Given the description of an element on the screen output the (x, y) to click on. 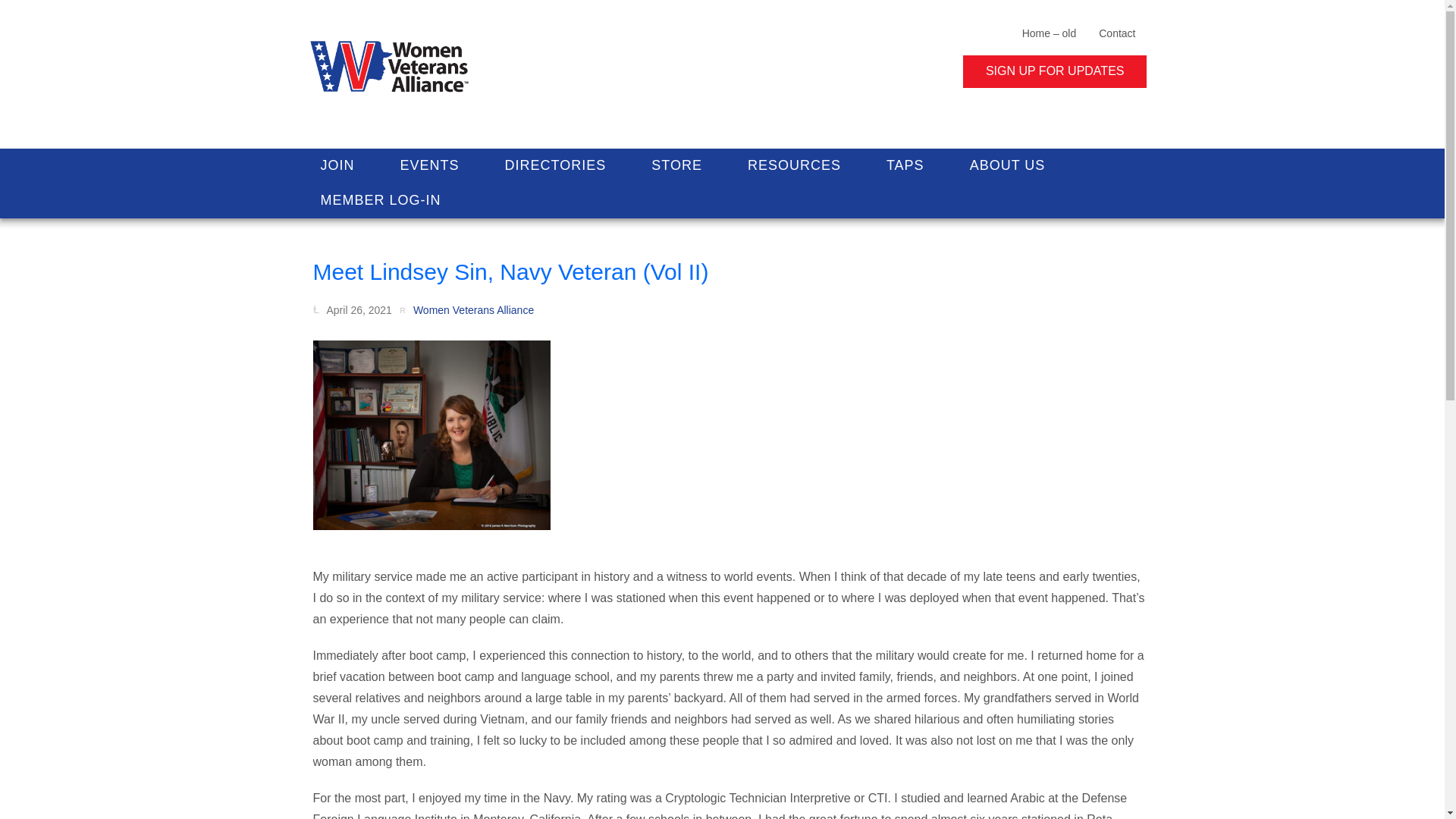
MEMBER LOG-IN (380, 200)
View all posts by Women Veterans Alliance (466, 309)
DIRECTORIES (554, 165)
SIGN UP FOR UPDATES (1054, 71)
Contact (1117, 32)
ABOUT US (1007, 165)
TAPS (905, 165)
Women Veterans Alliance (466, 309)
JOIN (337, 165)
STORE (676, 165)
EVENTS (429, 165)
RESOURCES (794, 165)
